Given the description of an element on the screen output the (x, y) to click on. 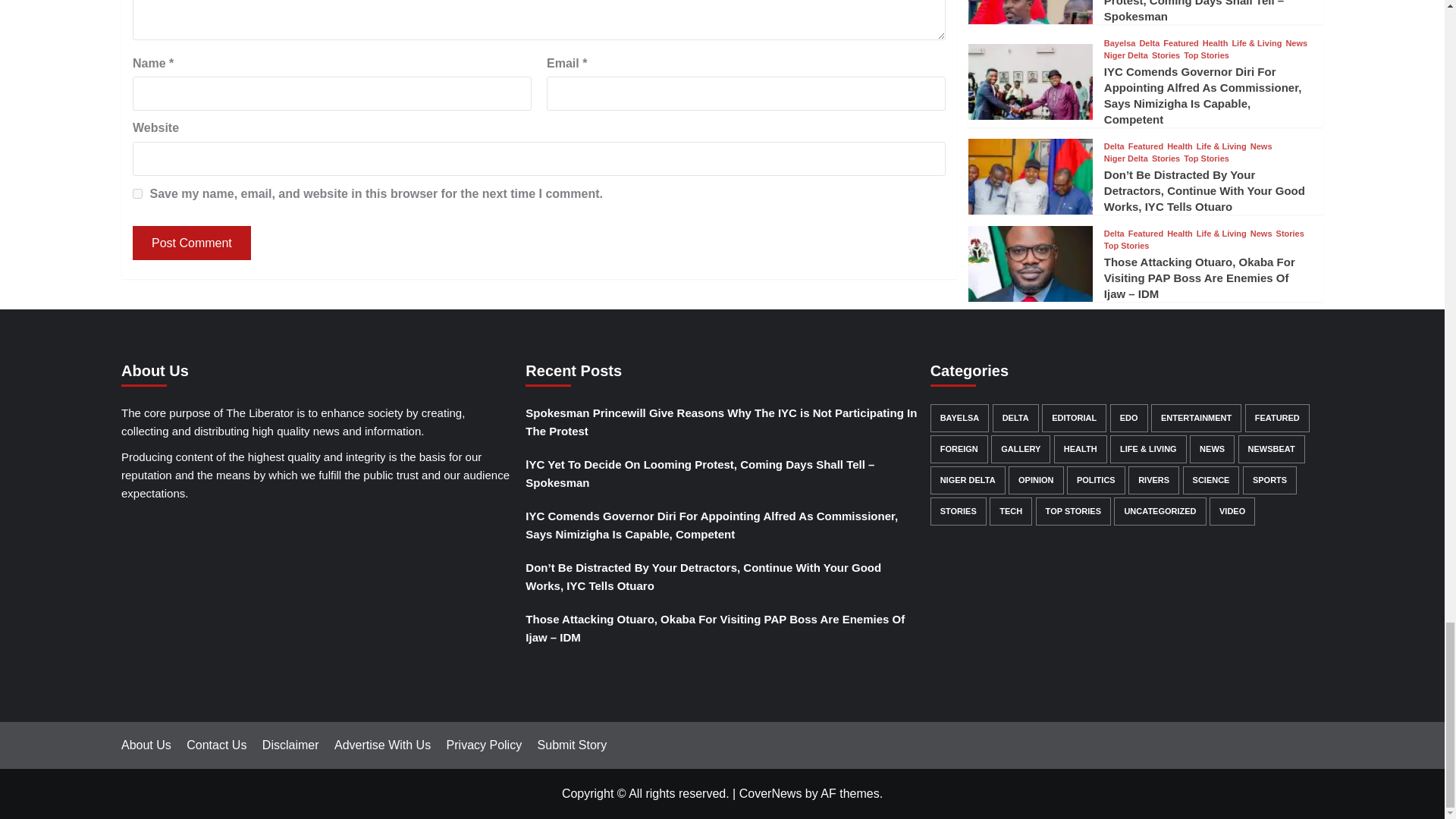
Post Comment (191, 243)
yes (137, 194)
